Given the description of an element on the screen output the (x, y) to click on. 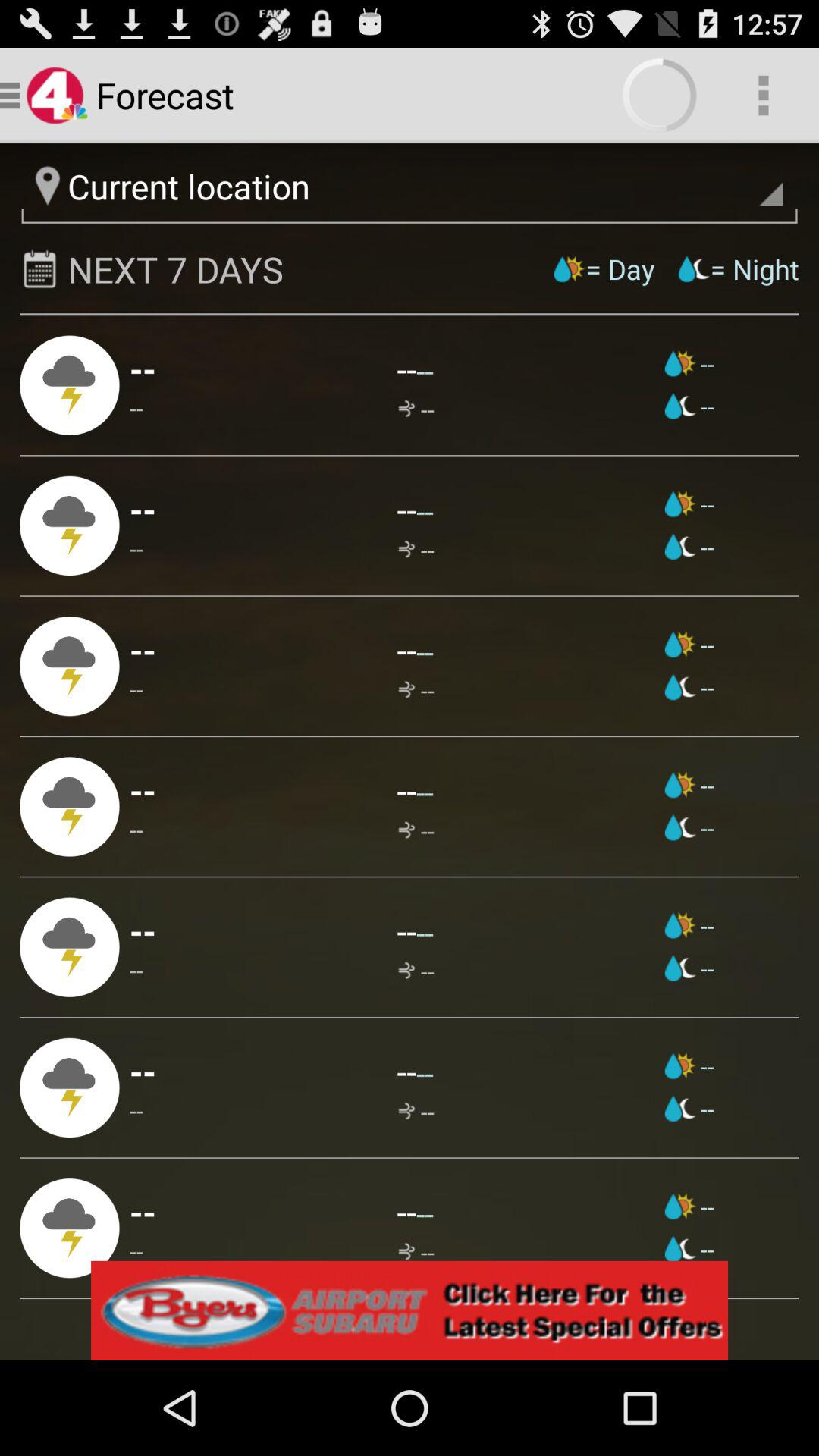
open icon above the -- app (424, 791)
